Given the description of an element on the screen output the (x, y) to click on. 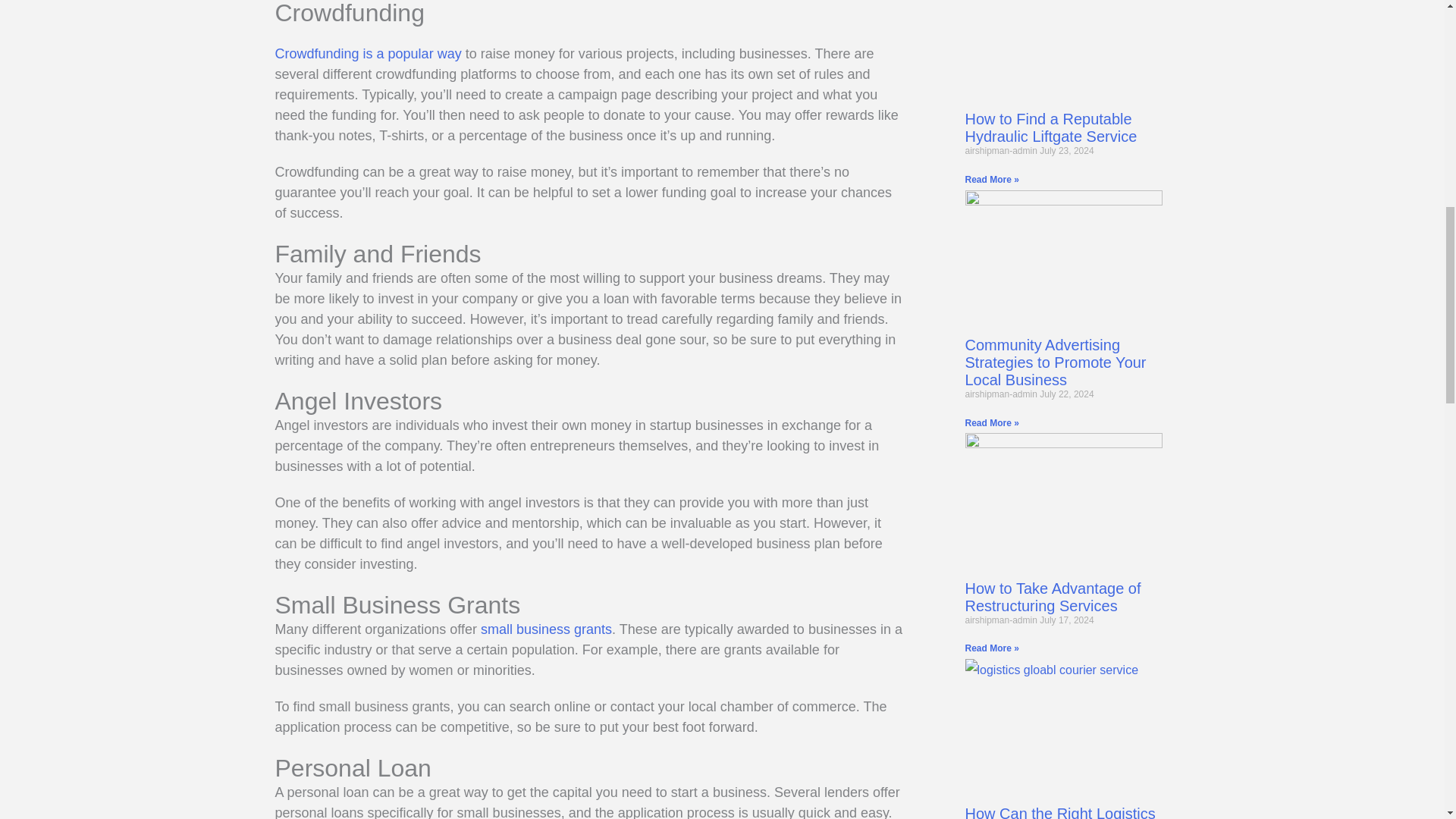
Crowdfunding is a popular way (368, 53)
How to Take Advantage of Restructuring Services (1051, 596)
How to Find a Reputable Hydraulic Liftgate Service (1050, 127)
small business grants (545, 629)
